Given the description of an element on the screen output the (x, y) to click on. 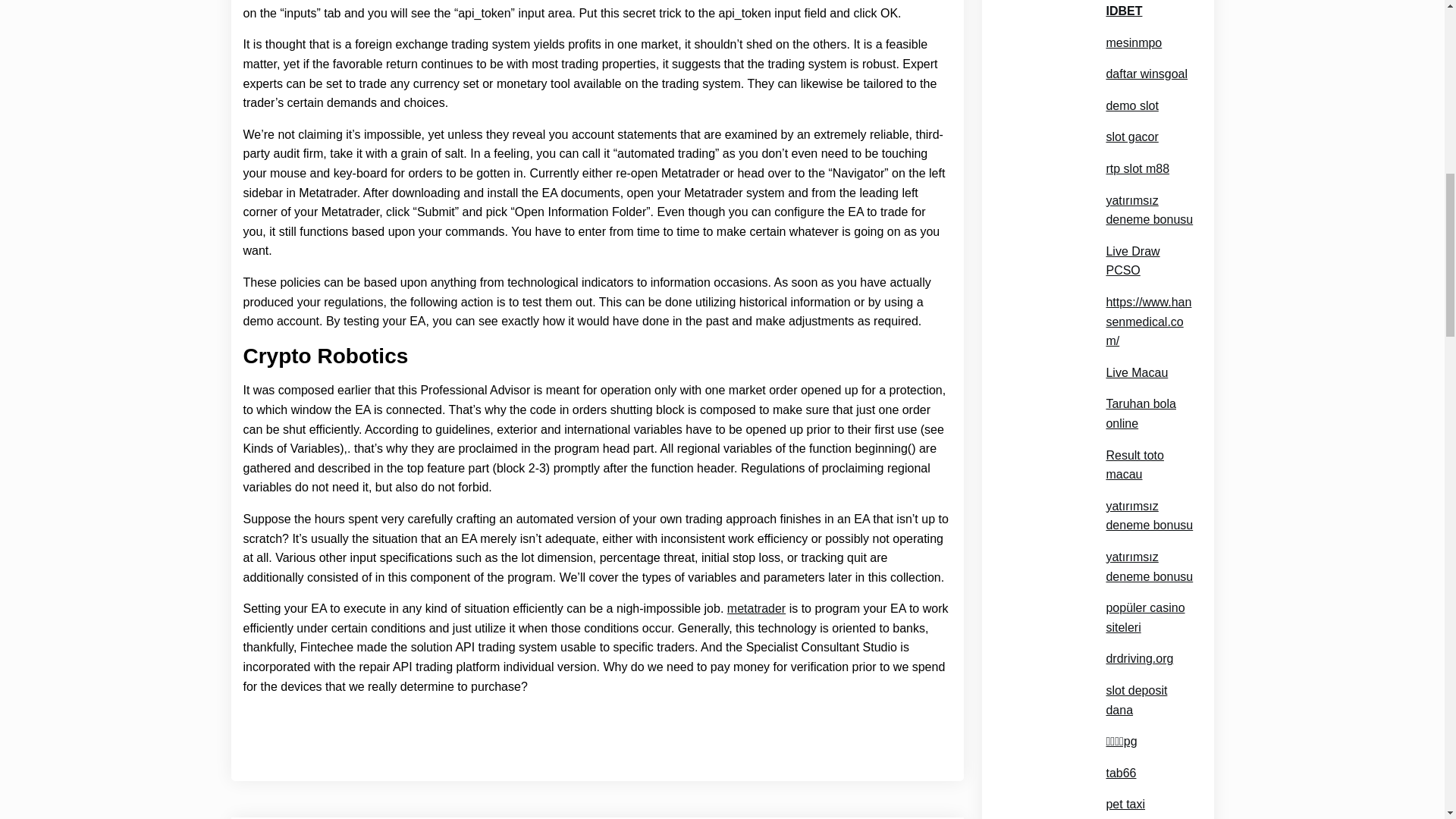
metatrader (756, 608)
